Given the description of an element on the screen output the (x, y) to click on. 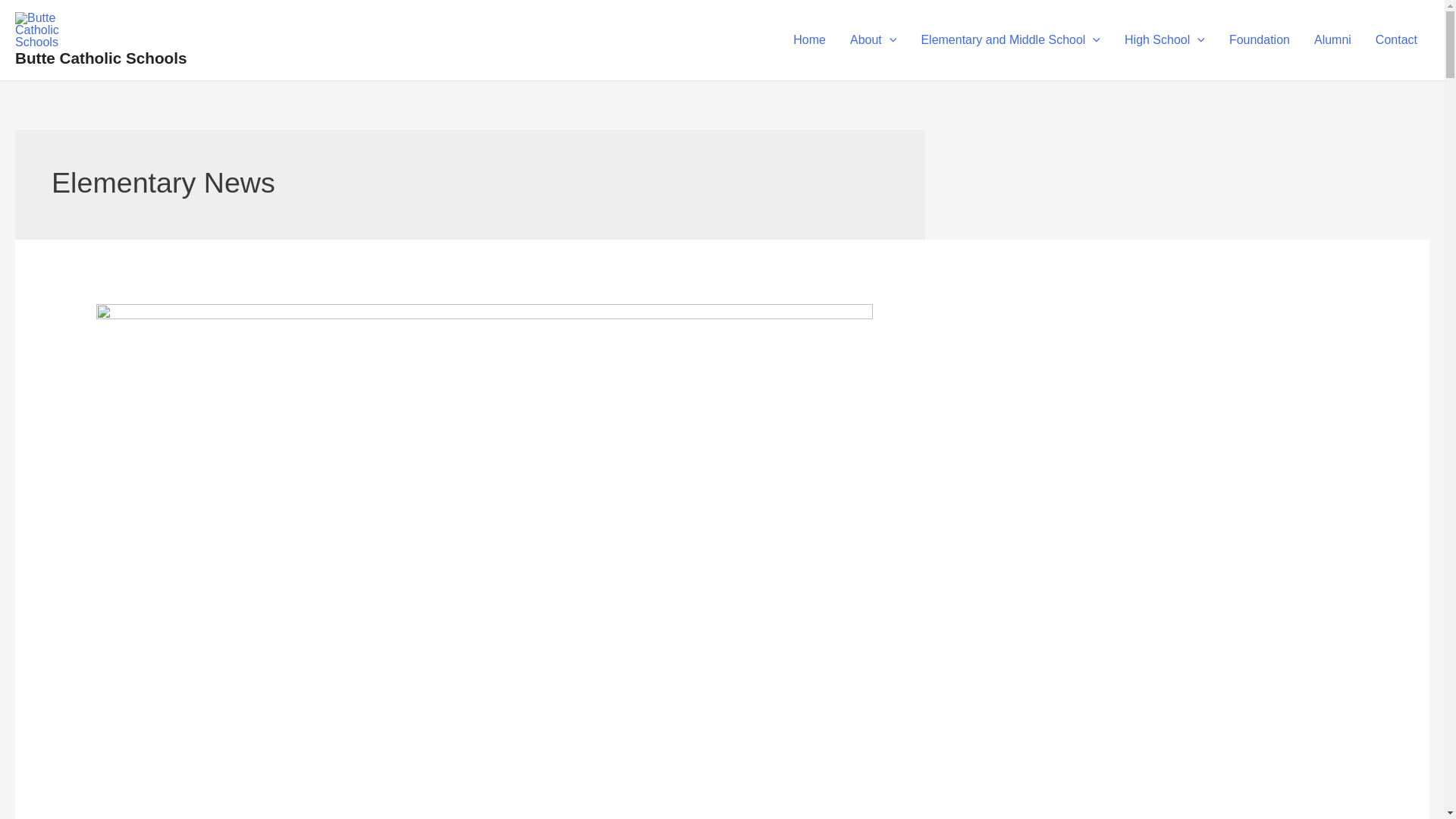
Contact (1395, 39)
High School (1164, 39)
Home (809, 39)
Alumni (1331, 39)
Elementary and Middle School (1010, 39)
Foundation (1259, 39)
About (873, 39)
Butte Catholic Schools (100, 57)
